Given the description of an element on the screen output the (x, y) to click on. 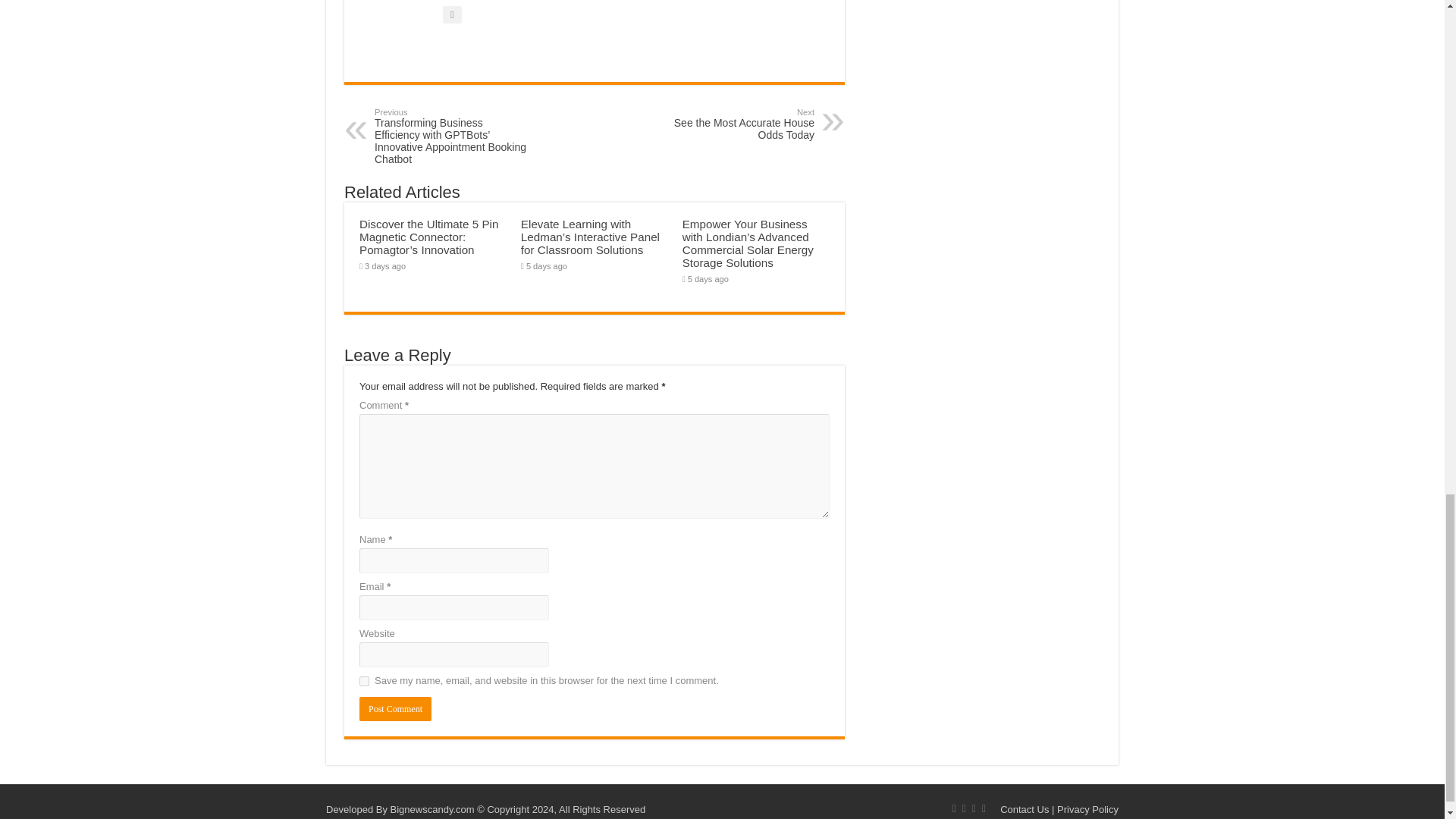
yes (364, 681)
Post Comment (394, 708)
